Given the description of an element on the screen output the (x, y) to click on. 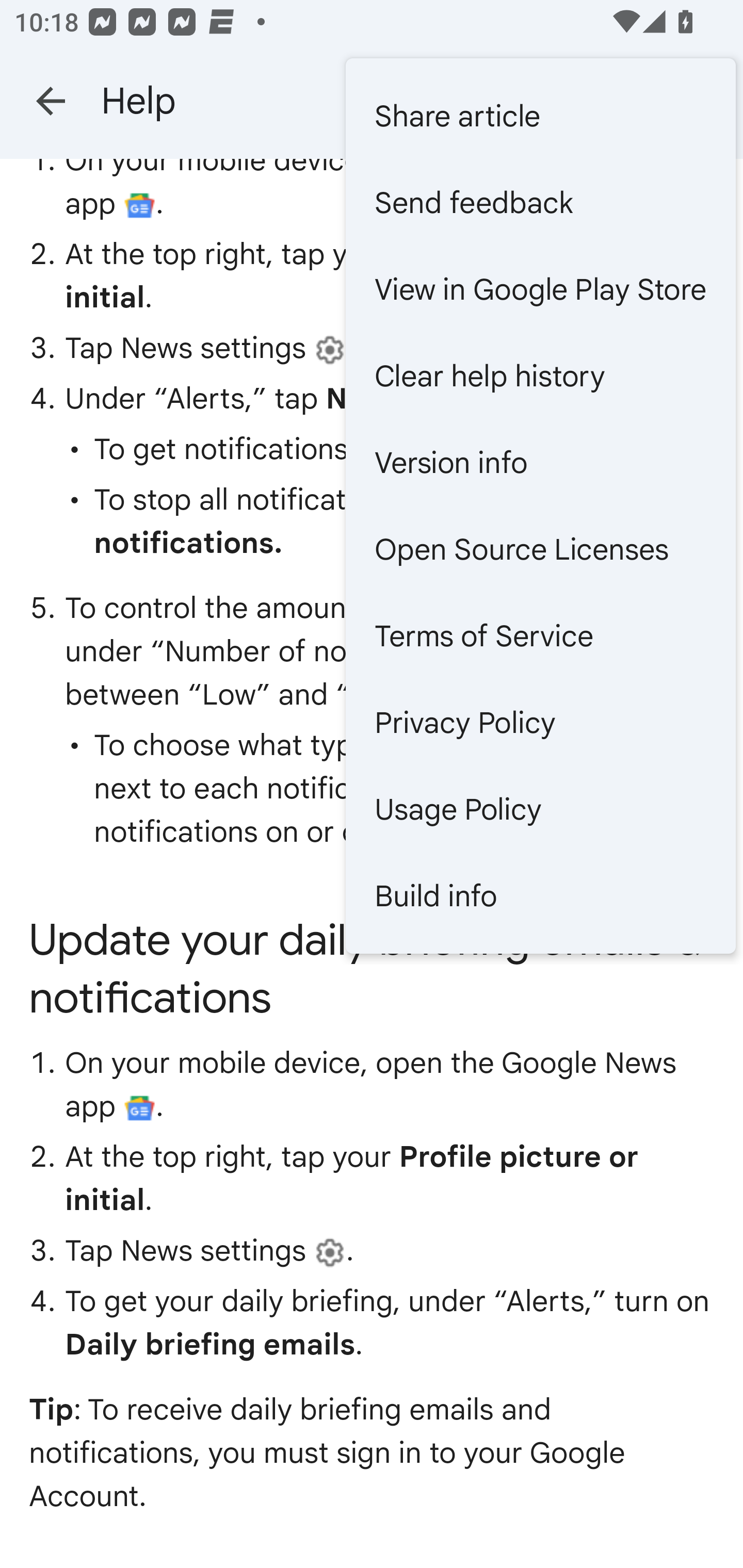
Share article (540, 115)
Send feedback (540, 202)
View in Google Play Store (540, 289)
Clear help history (540, 375)
Version info (540, 462)
Open Source Licenses (540, 549)
Terms of Service (540, 635)
Privacy Policy (540, 721)
Usage Policy (540, 808)
Build info (540, 895)
